Given the description of an element on the screen output the (x, y) to click on. 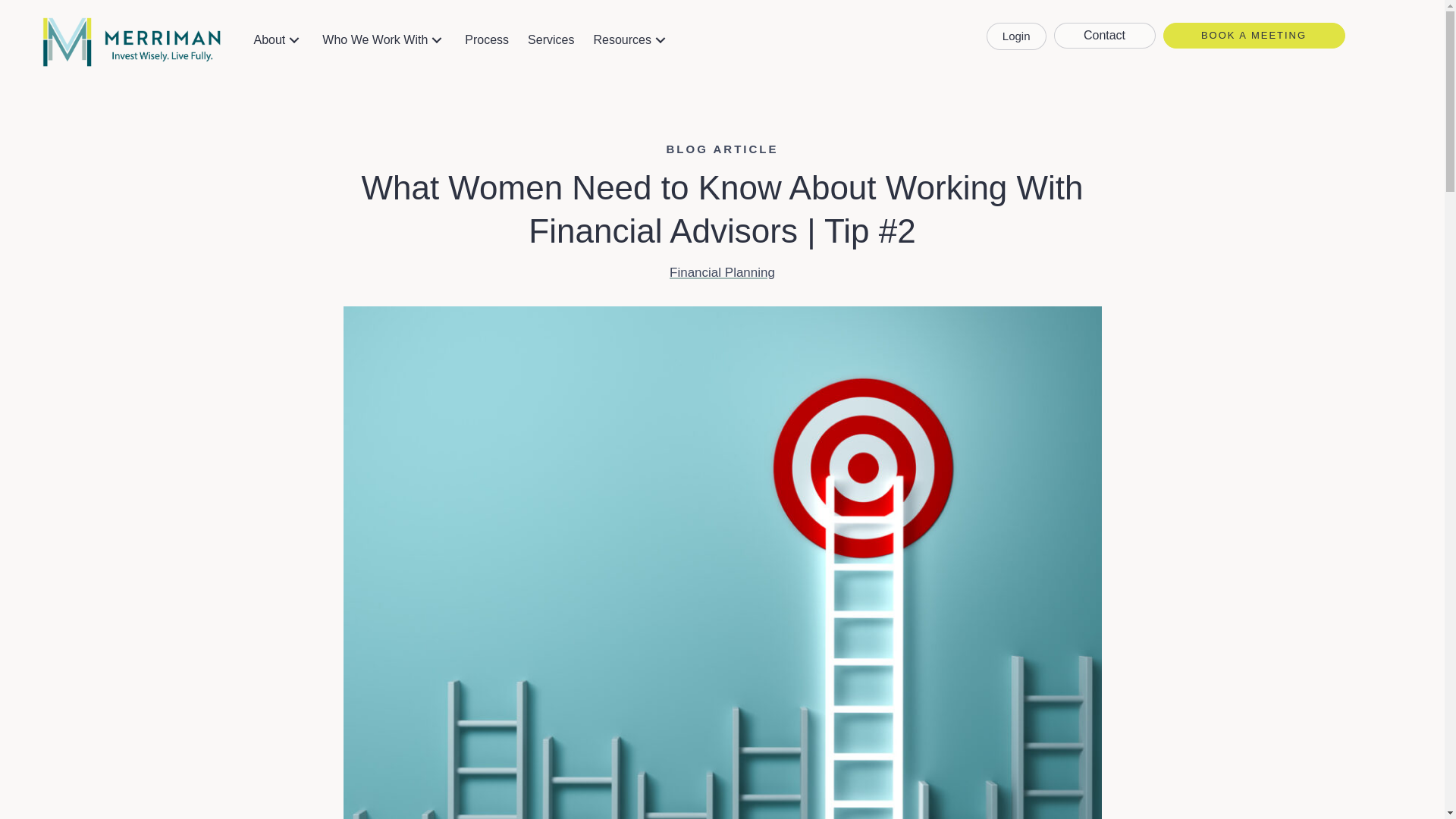
Services (549, 39)
merriman-wealth-management-logo (131, 41)
Who We Work With (383, 39)
Process (486, 39)
About (278, 39)
Resources (631, 39)
